Given the description of an element on the screen output the (x, y) to click on. 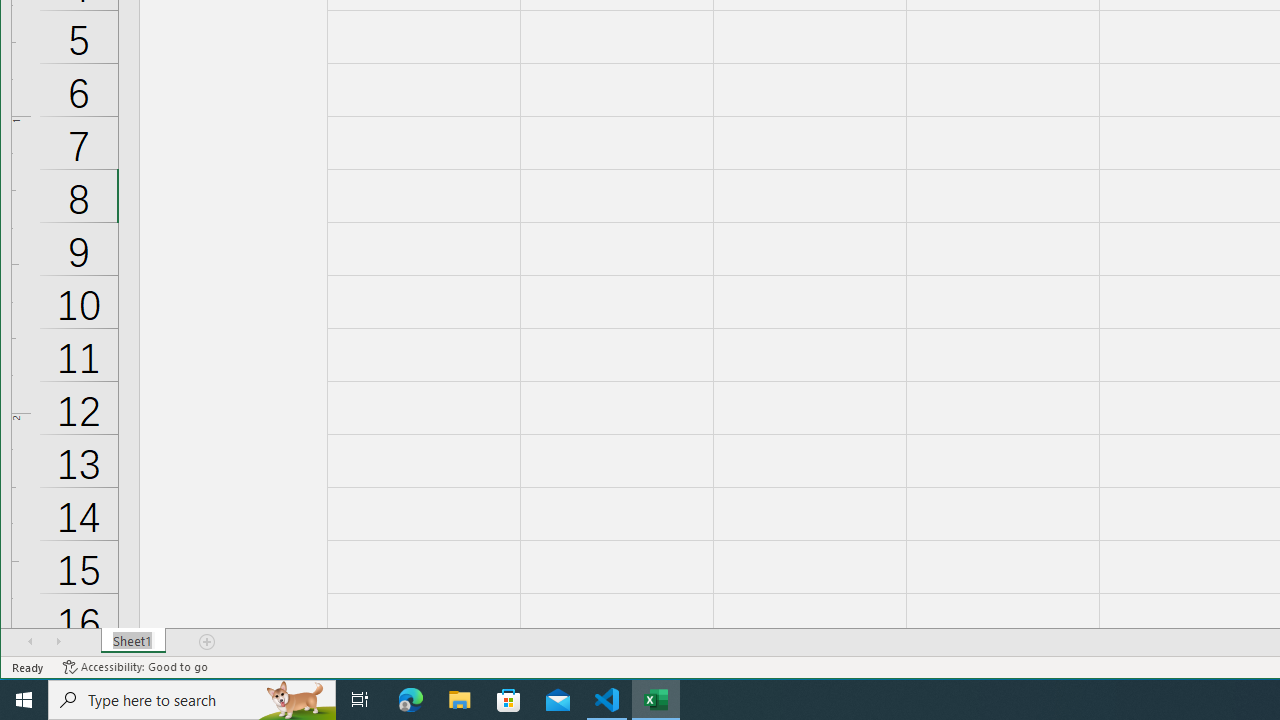
Microsoft Store (509, 699)
Start (24, 699)
Visual Studio Code - 1 running window (607, 699)
Sheet Tab (133, 641)
Search highlights icon opens search home window (295, 699)
Excel - 1 running window (656, 699)
Microsoft Edge (411, 699)
Type here to search (191, 699)
Task View (359, 699)
